Given the description of an element on the screen output the (x, y) to click on. 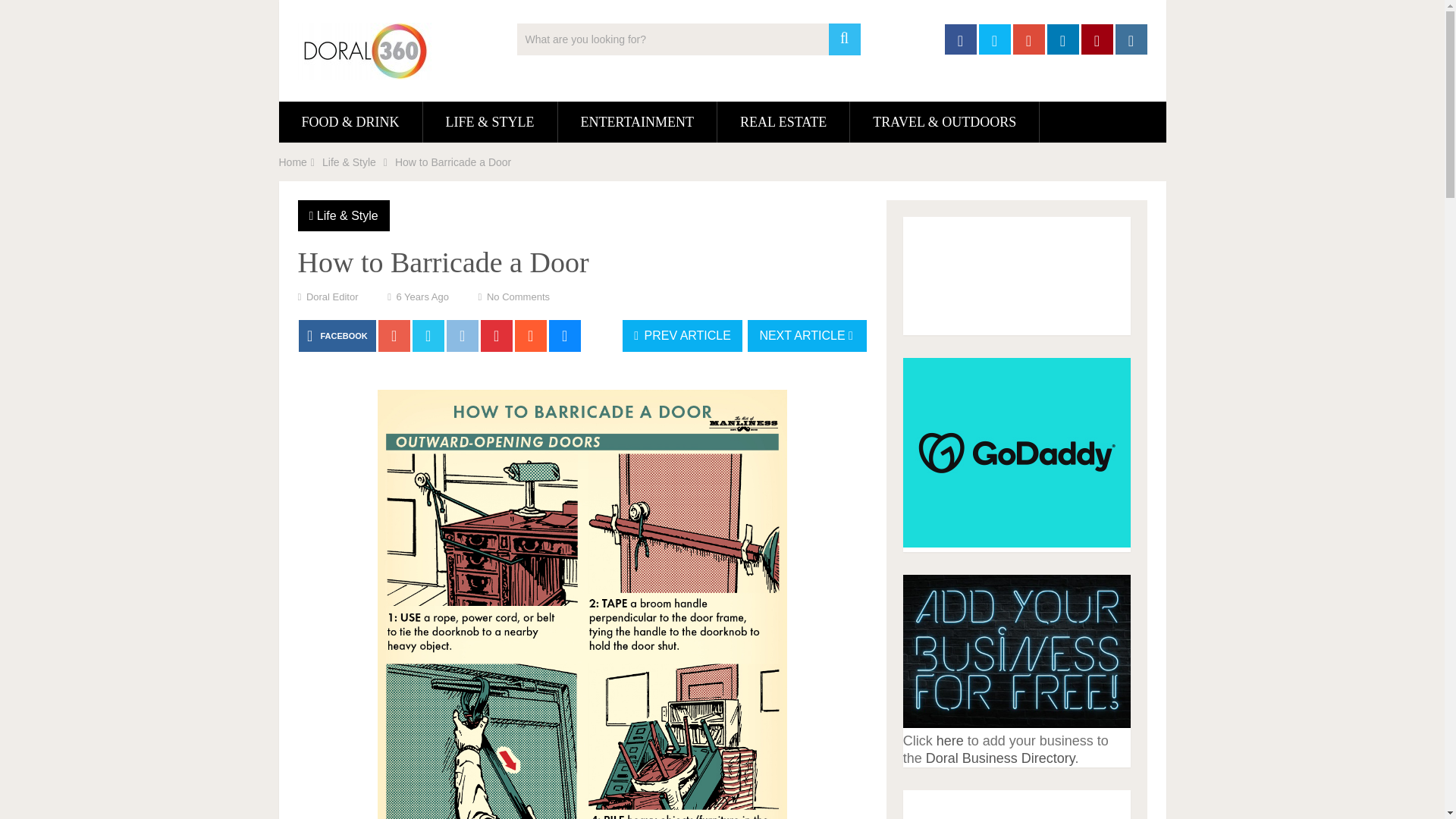
NEXT ARTICLE (807, 336)
PREV ARTICLE (682, 336)
Doral Editor (331, 296)
Home (293, 162)
ENTERTAINMENT (636, 121)
No Comments (518, 296)
REAL ESTATE (782, 121)
Posts by Doral Editor (331, 296)
FACEBOOK (336, 336)
